Given the description of an element on the screen output the (x, y) to click on. 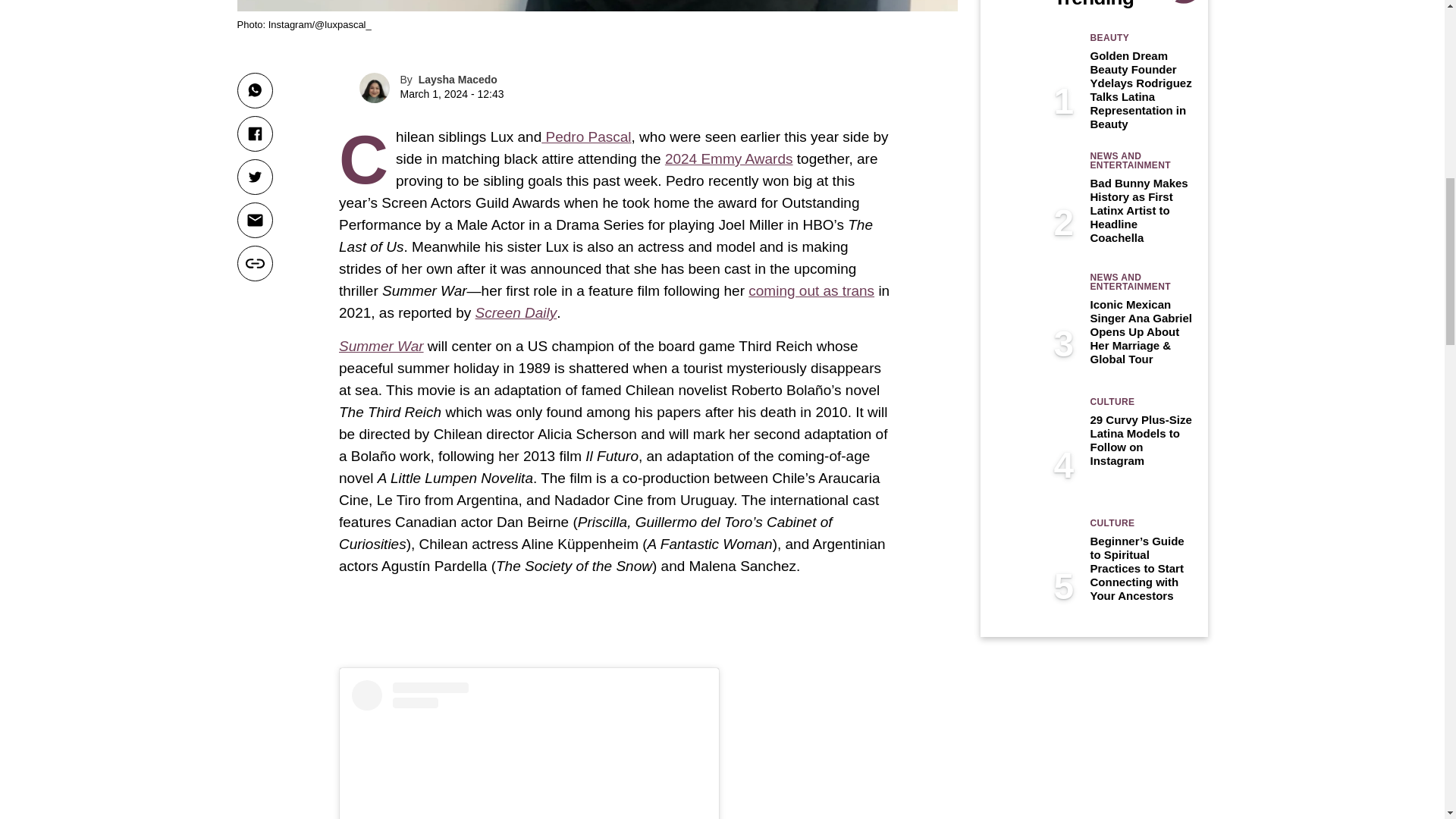
2024 Emmy Awards (729, 158)
Pedro Pascal (585, 136)
Laysha Macedo (458, 79)
Share this article on WhatsApp (253, 90)
coming out as trans (811, 290)
Share this article on Facebook (253, 133)
Share this article on Twitter (253, 176)
